Given the description of an element on the screen output the (x, y) to click on. 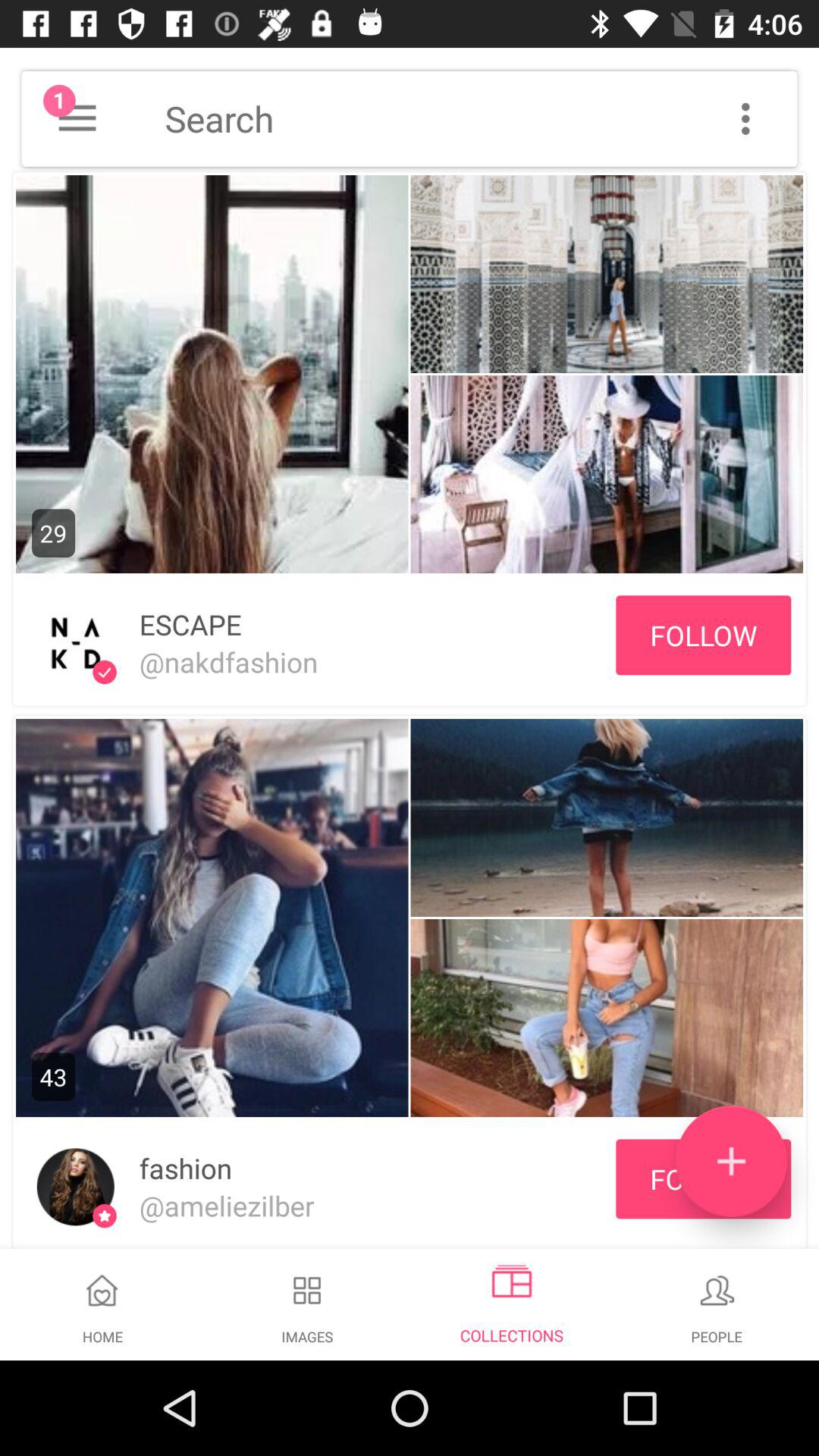
add post (731, 1161)
